Given the description of an element on the screen output the (x, y) to click on. 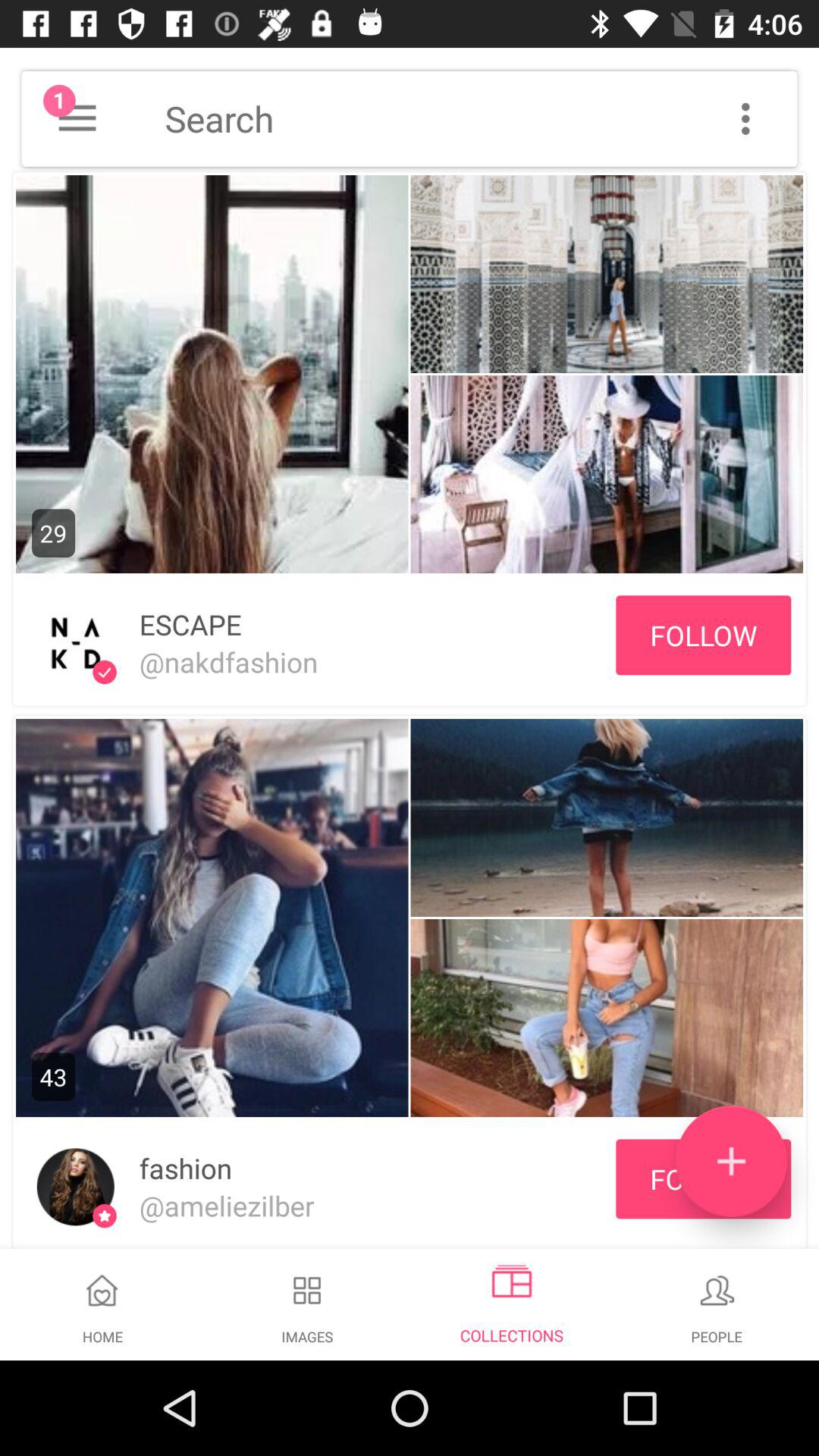
add post (731, 1161)
